Given the description of an element on the screen output the (x, y) to click on. 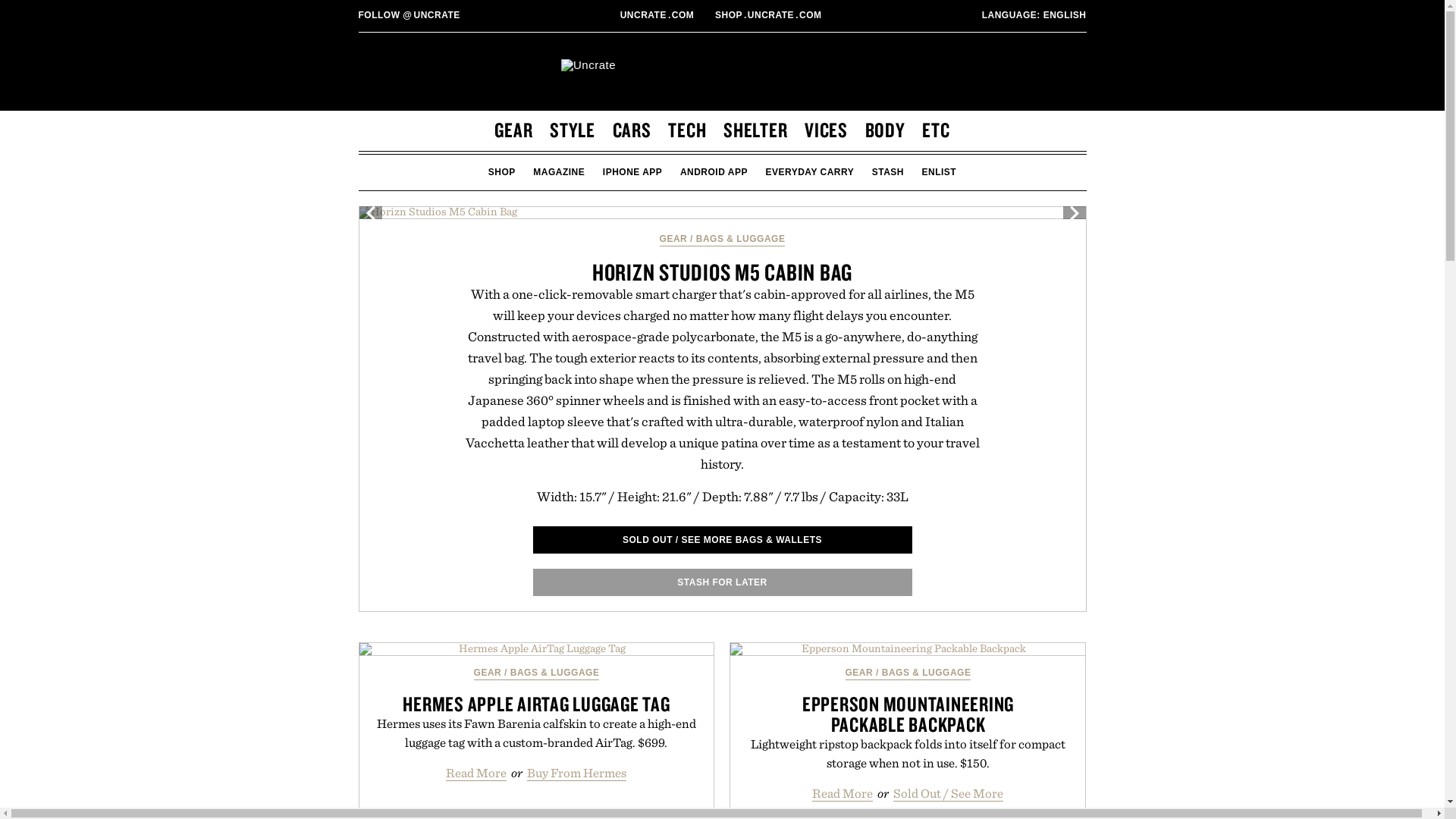
Horizn Studios M5 Cabin Bag (722, 212)
Epperson Mountaineering Packable Backpack (907, 649)
SHOP.UNCRATE.COM  (769, 14)
Hermes Apple AirTag Luggage Tag (536, 649)
UNCRATE.COM  (658, 14)
LANGUAGE: ENGLISH (1033, 14)
